Given the description of an element on the screen output the (x, y) to click on. 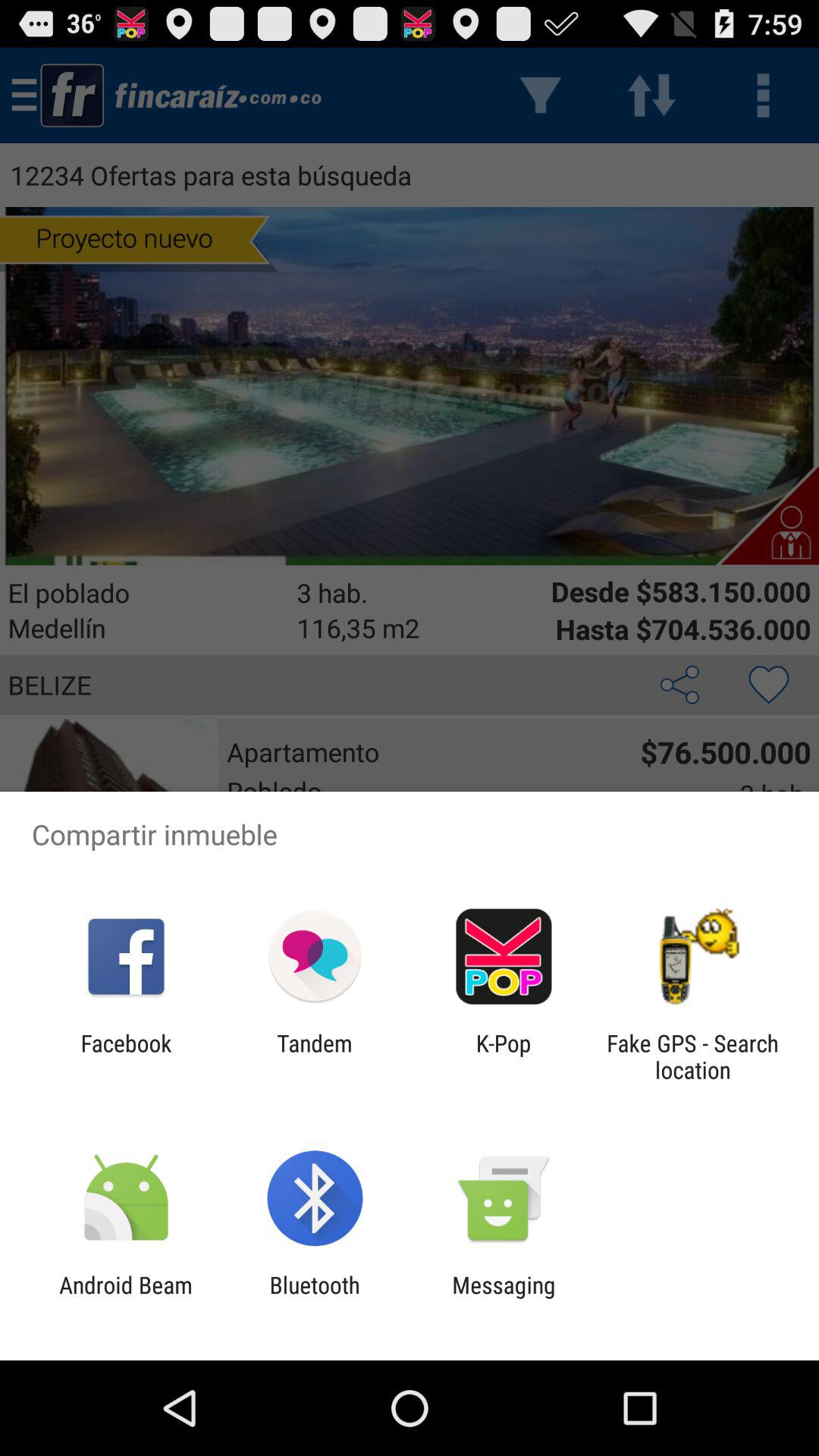
click icon next to k-pop item (314, 1056)
